Given the description of an element on the screen output the (x, y) to click on. 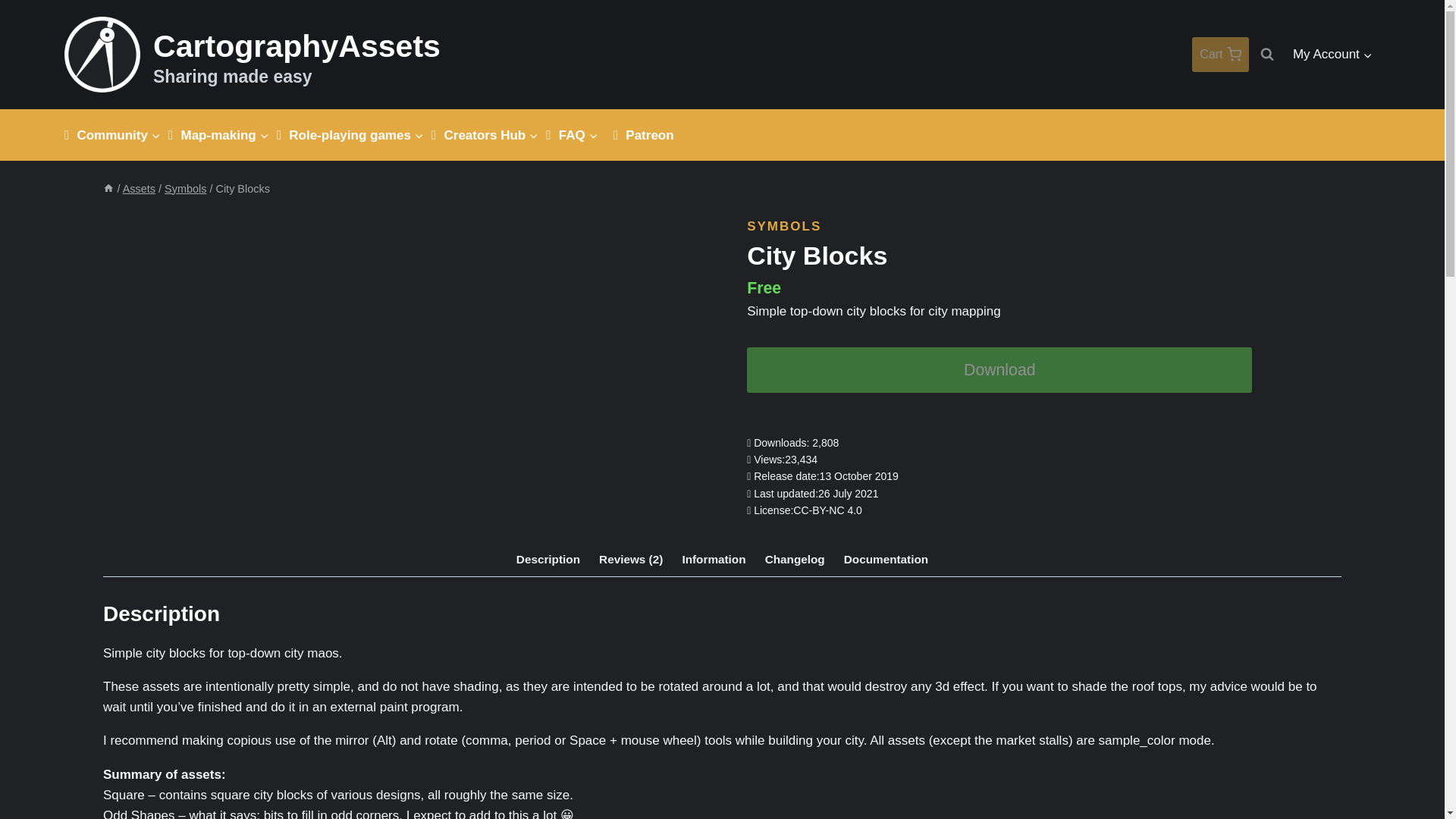
Map-making (224, 134)
Community (118, 134)
Cart (1219, 54)
My Account (1332, 54)
